Given the description of an element on the screen output the (x, y) to click on. 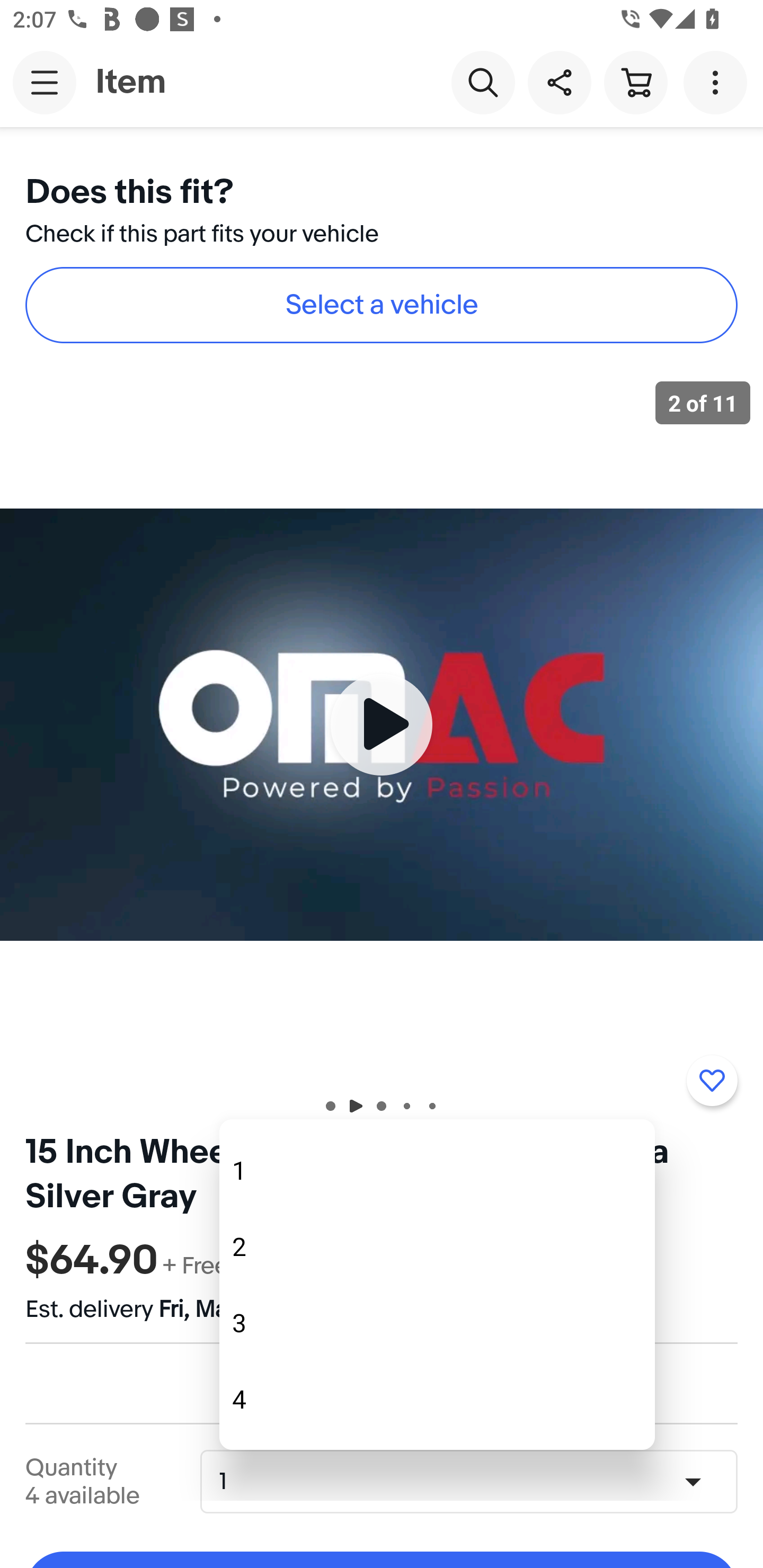
1 (436, 1170)
2 (436, 1246)
3 (436, 1322)
4 (436, 1399)
